Given the description of an element on the screen output the (x, y) to click on. 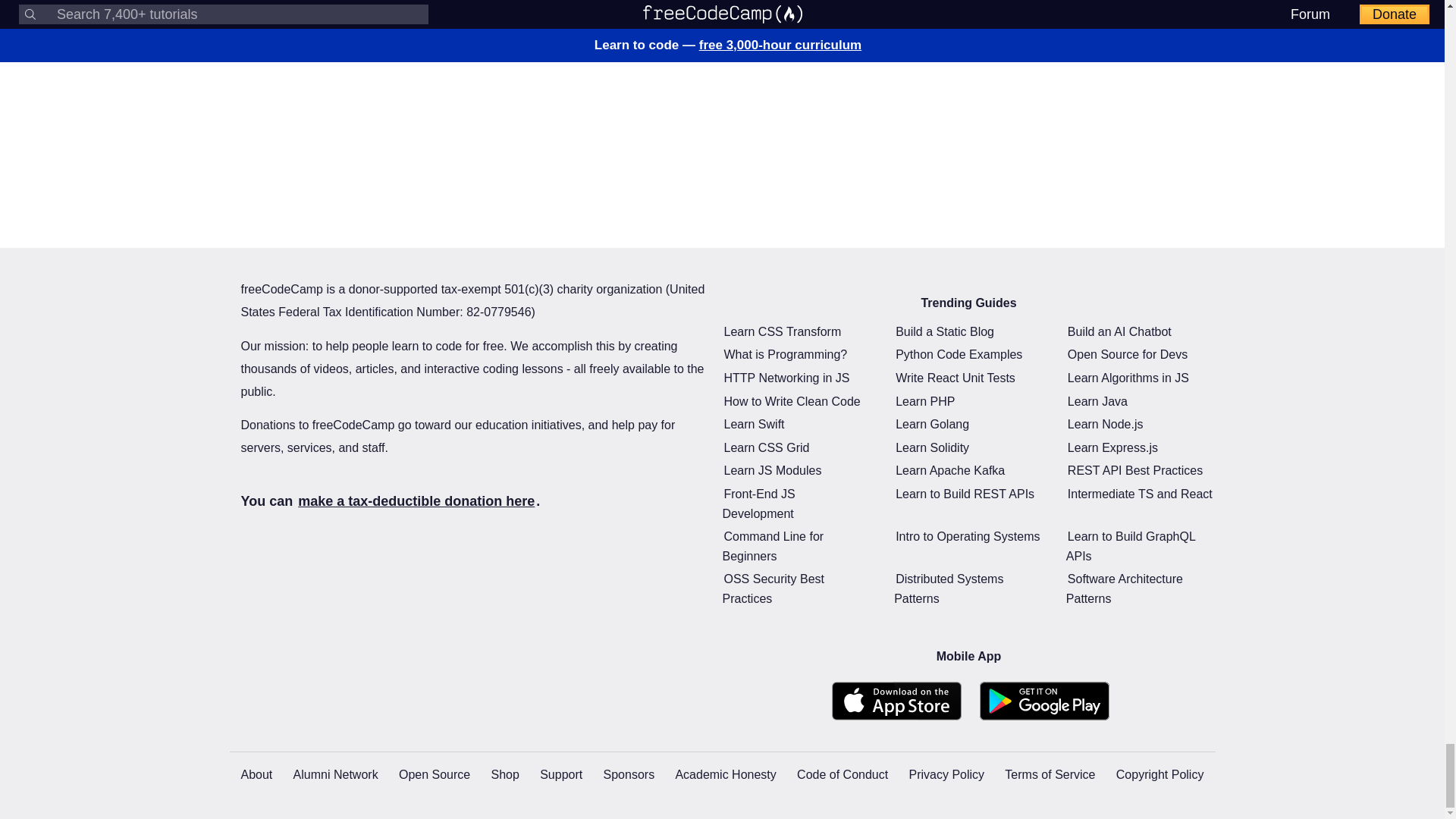
What is Programming? (785, 354)
Learn Golang (932, 424)
Learn Swift (754, 424)
Learn CSS Grid (766, 447)
Learn Node.js (1104, 424)
Build an AI Chatbot (1119, 331)
Learn JS Modules (772, 470)
Open Source for Devs (1127, 354)
Learn Express.js (1111, 447)
Write React Unit Tests (954, 377)
